Given the description of an element on the screen output the (x, y) to click on. 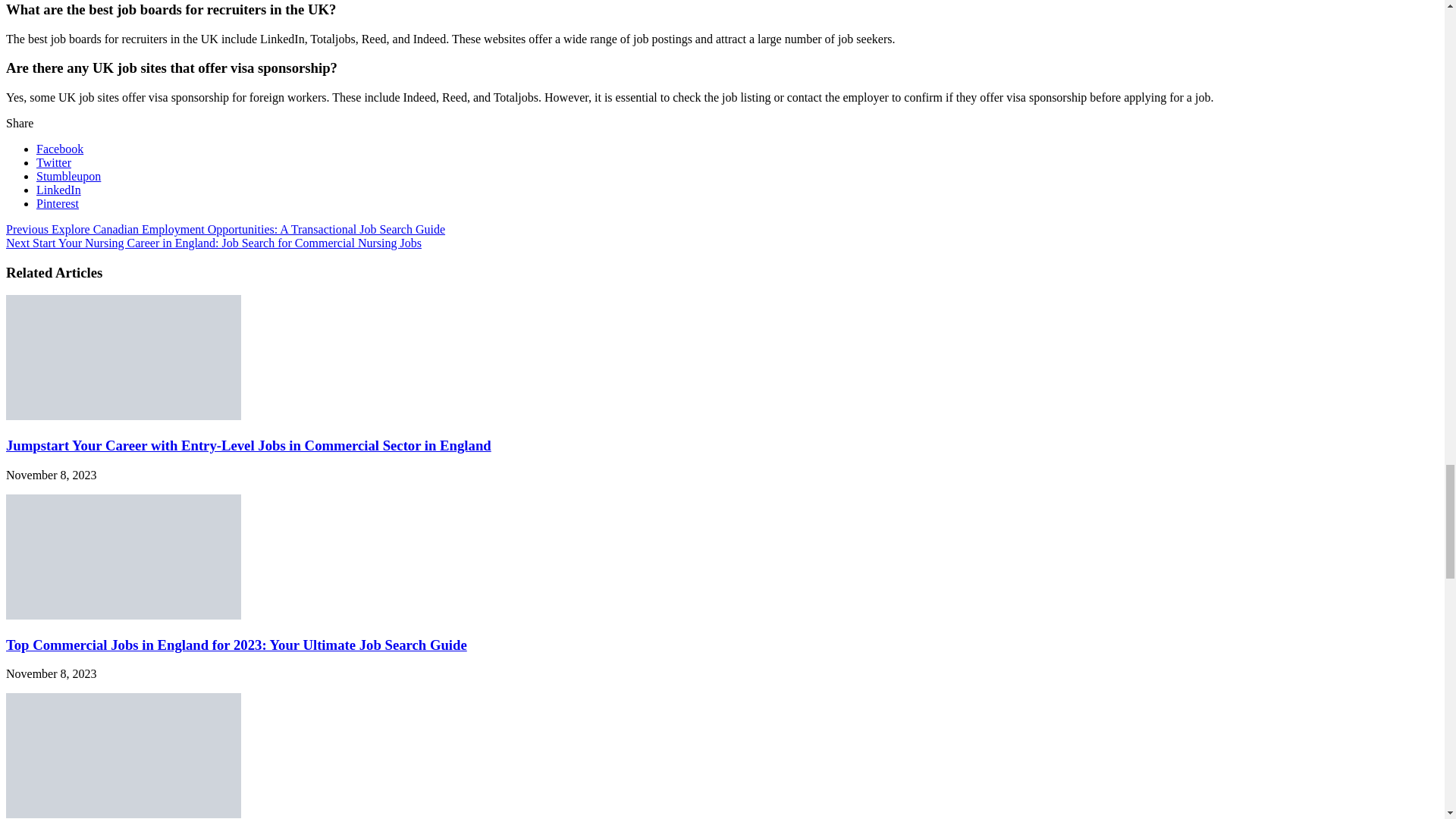
Stumbleupon (68, 175)
Facebook (59, 148)
Pinterest (57, 203)
LinkedIn (58, 189)
Twitter (53, 162)
